Given the description of an element on the screen output the (x, y) to click on. 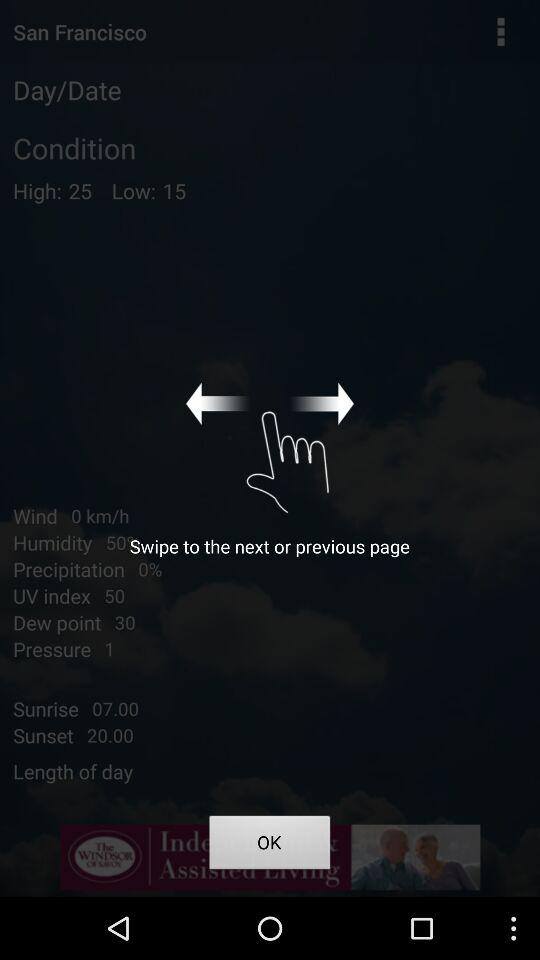
select the item below swipe to the (269, 845)
